Given the description of an element on the screen output the (x, y) to click on. 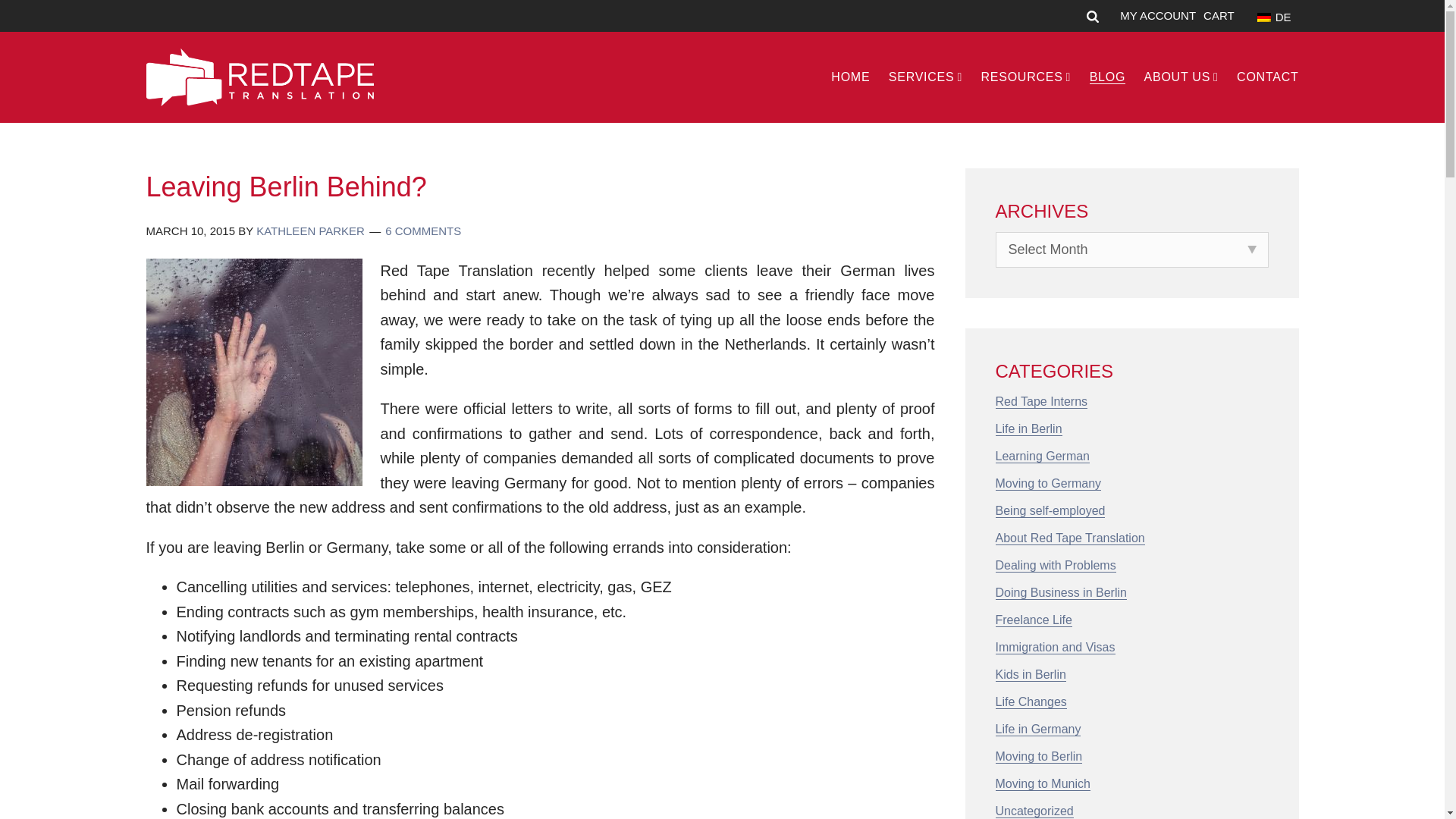
Red Tape Translation (258, 76)
RESOURCES (1017, 76)
MY ACCOUNT (1157, 15)
ABOUT US (1173, 76)
DE (1270, 15)
SERVICES (917, 76)
CART (1219, 15)
